Given the description of an element on the screen output the (x, y) to click on. 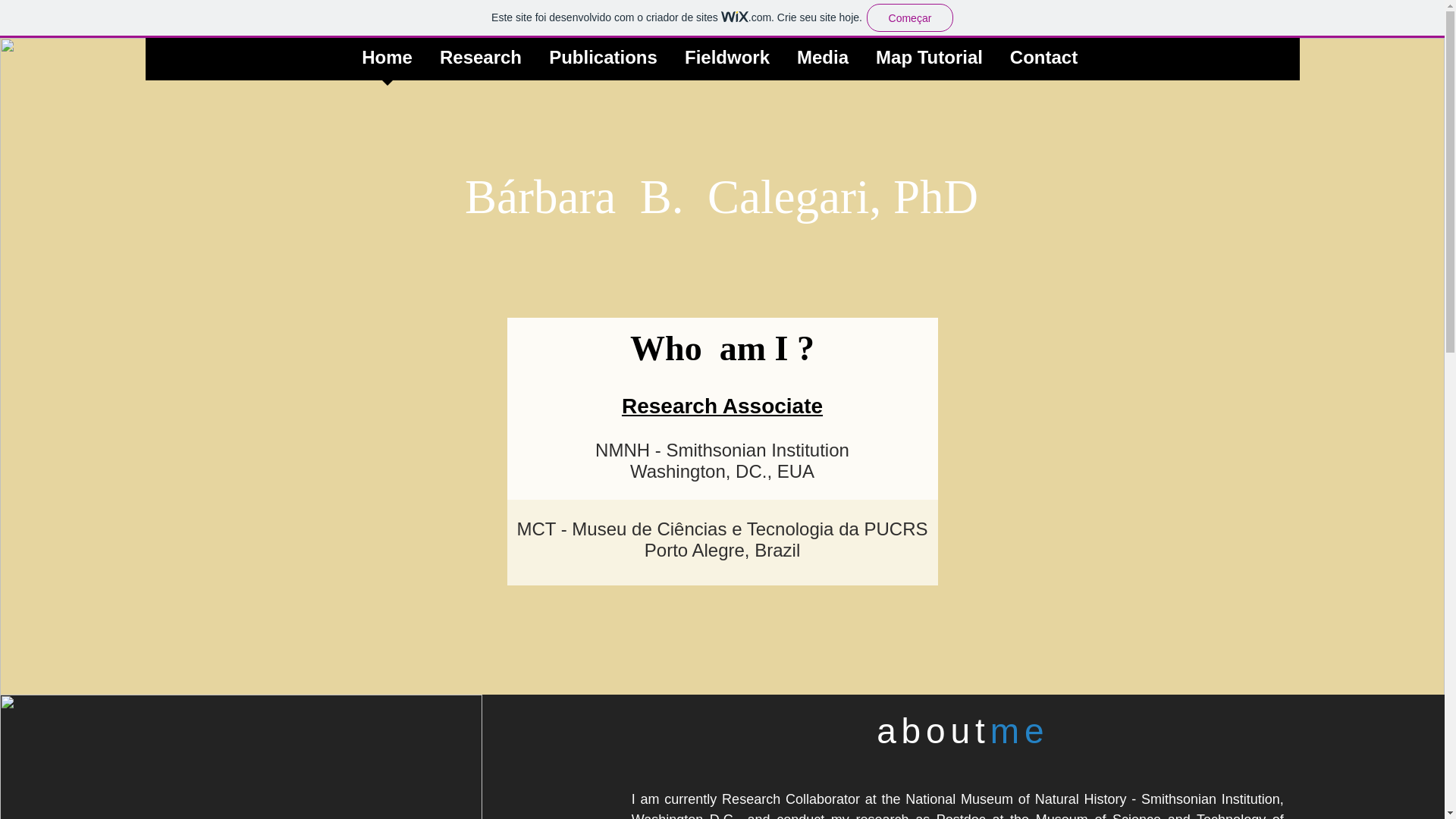
Research (480, 61)
Curriculum vitae-Portuguese (879, 796)
Curriculum vitae-Portuguese (589, 796)
Contact (1042, 61)
Map Tutorial (928, 61)
Media (822, 61)
Publications (603, 61)
Fieldwork (727, 61)
Home (386, 61)
